Given the description of an element on the screen output the (x, y) to click on. 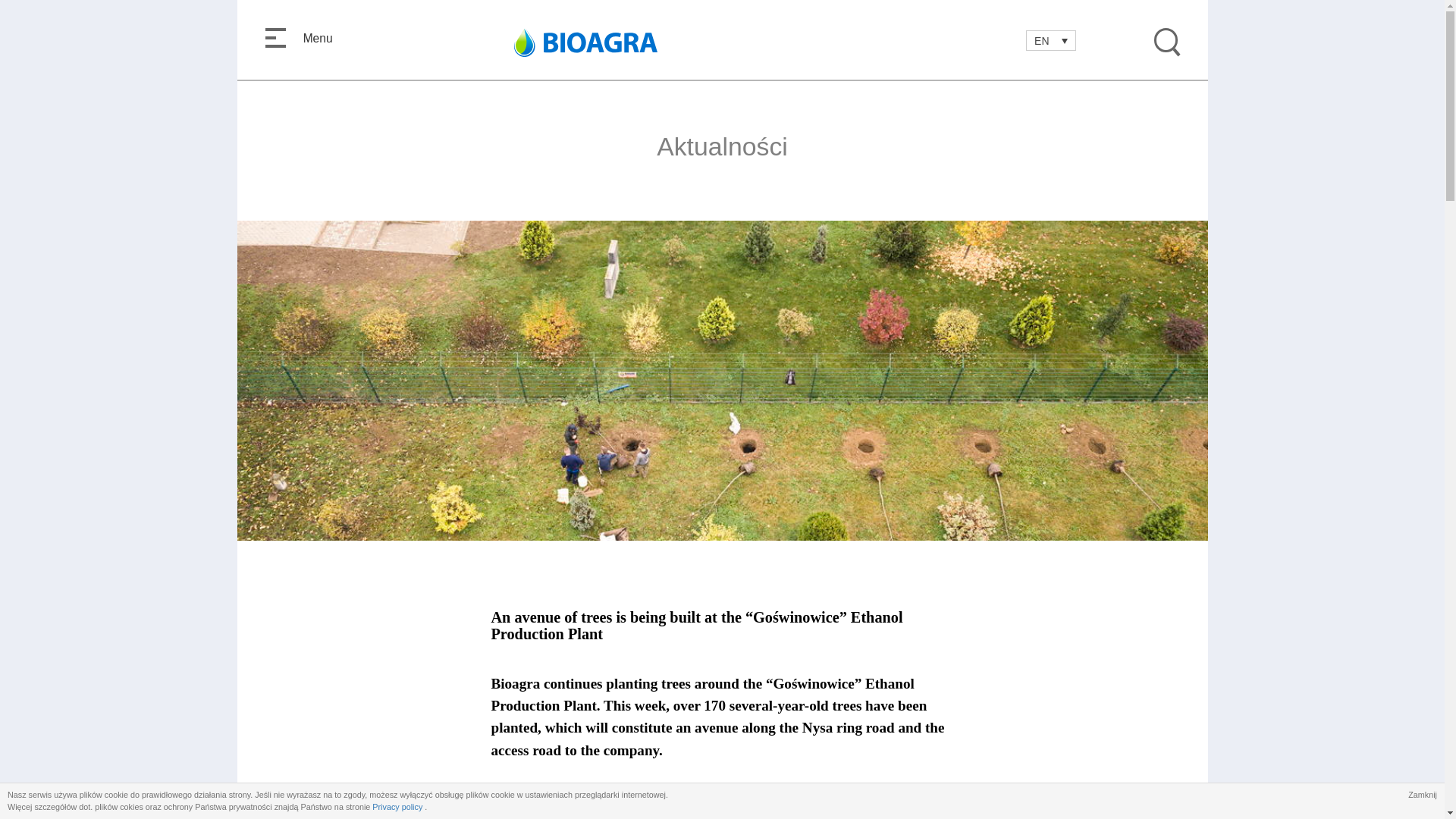
EN (1050, 40)
